Given the description of an element on the screen output the (x, y) to click on. 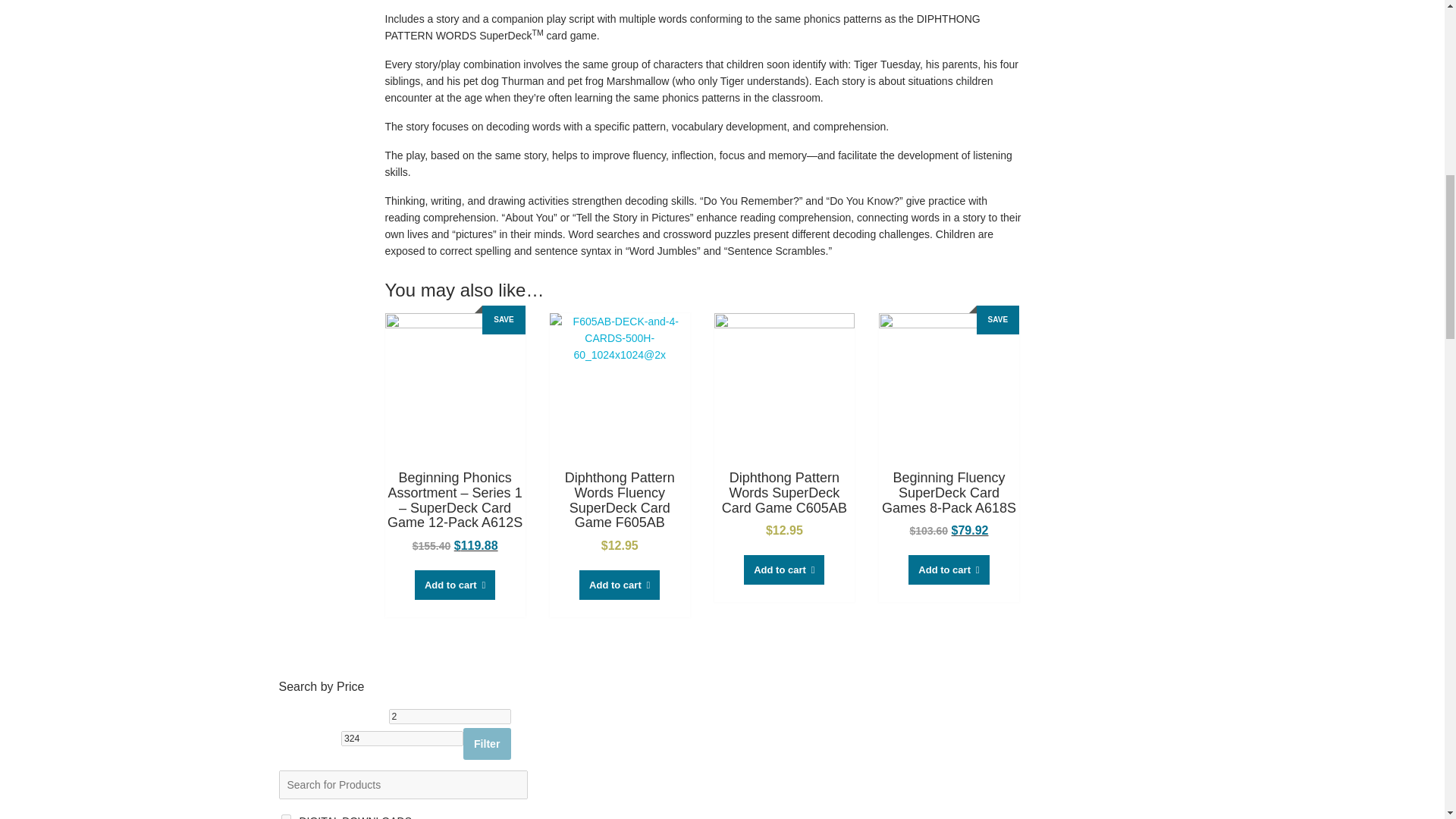
2 (449, 716)
Add to cart (948, 569)
510 (285, 816)
Add to cart (454, 584)
Add to cart (784, 569)
Add to cart (619, 584)
324 (401, 738)
